Given the description of an element on the screen output the (x, y) to click on. 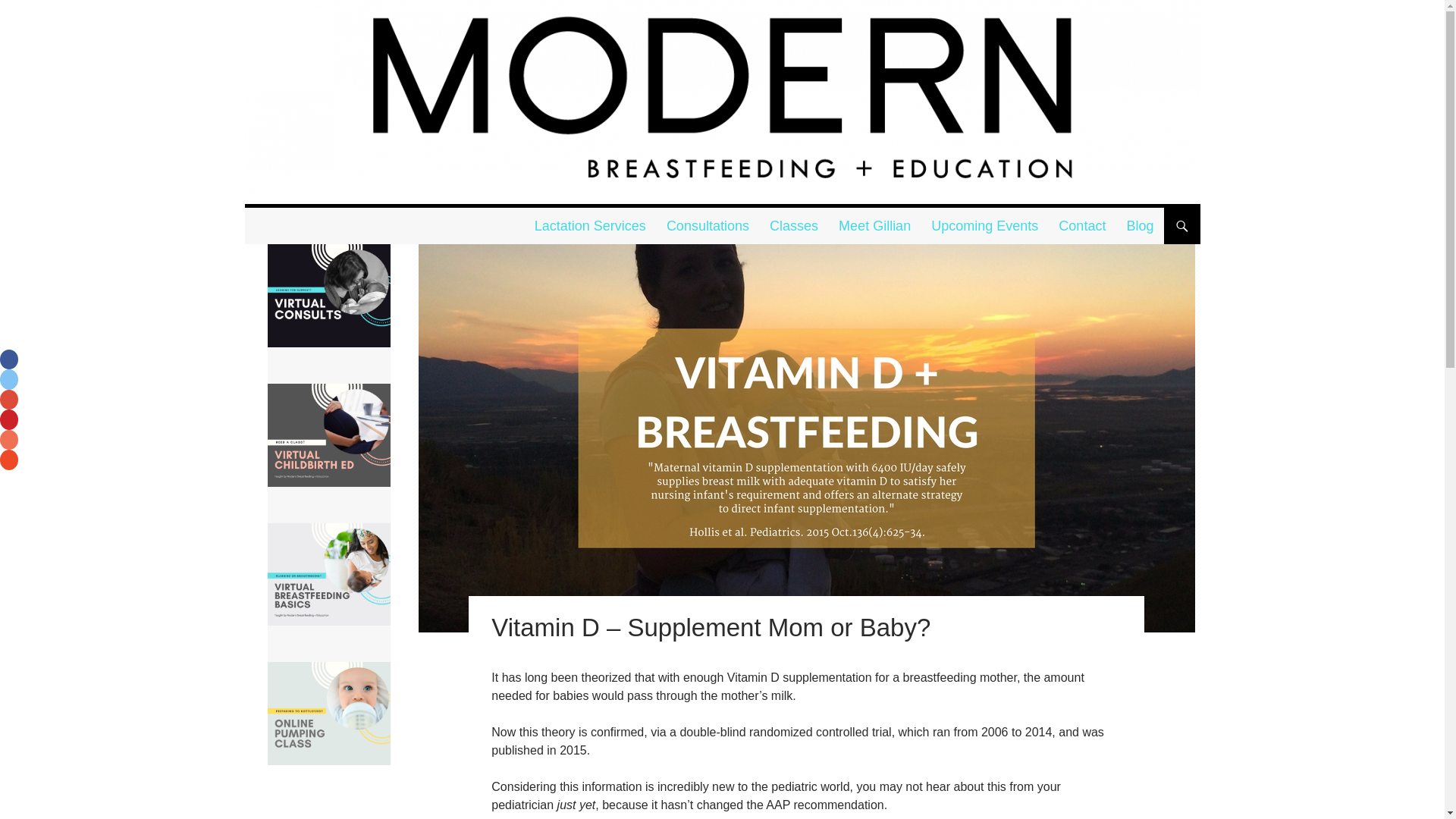
Contact (1082, 226)
Consultations (708, 226)
Meet Gillian (874, 226)
Upcoming Events (983, 226)
Skip to content (579, 218)
Blog (1138, 226)
Lactation Services (590, 226)
Search (267, 217)
Classes (793, 226)
